Given the description of an element on the screen output the (x, y) to click on. 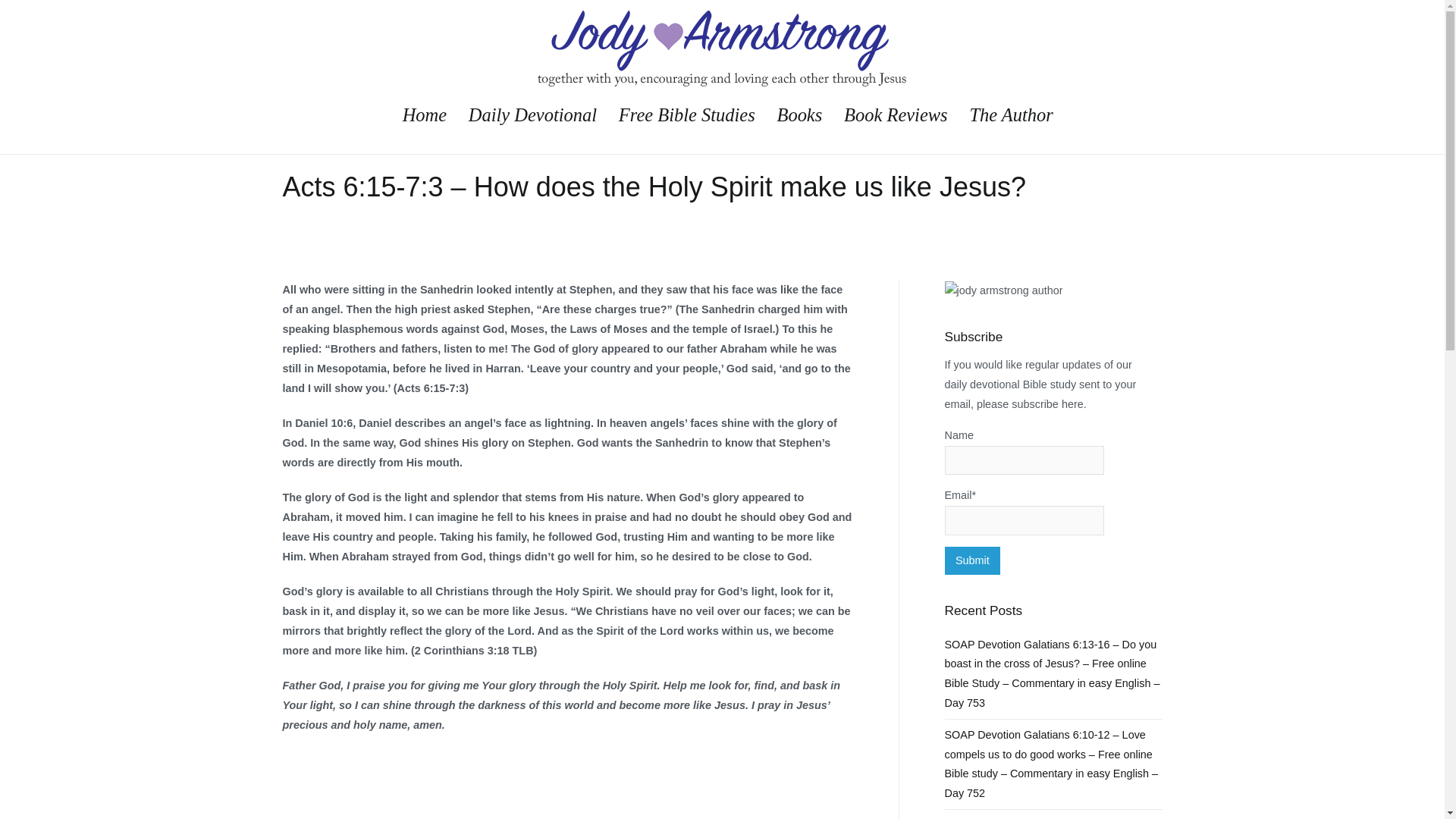
Books (799, 114)
Daily Devotional (532, 114)
Submit (972, 560)
Jody Armstrong (771, 97)
Book Reviews (895, 114)
Free Bible Studies (686, 114)
Submit (972, 560)
The Author (1010, 114)
Home (424, 114)
